Given the description of an element on the screen output the (x, y) to click on. 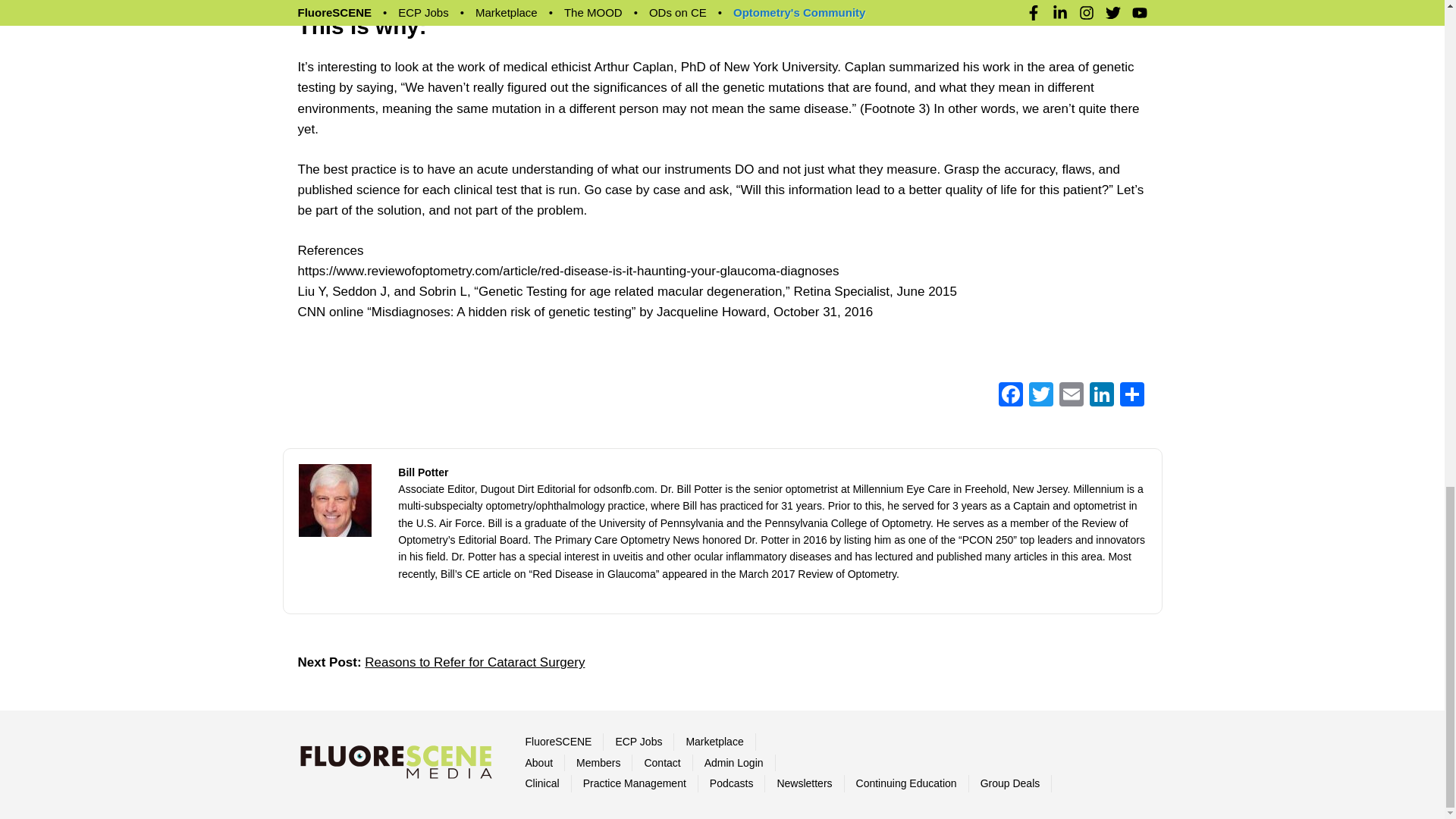
Email (1070, 396)
Members (598, 762)
Practice Management (634, 783)
LinkedIn (1101, 396)
Twitter (1040, 396)
Email (1070, 396)
Clinical (541, 783)
Contact (661, 762)
Facebook (1009, 396)
Twitter (1040, 396)
LinkedIn (1101, 396)
Reasons to Refer for Cataract Surgery (475, 662)
Marketplace (713, 741)
Facebook (1009, 396)
Newsletters (803, 783)
